Given the description of an element on the screen output the (x, y) to click on. 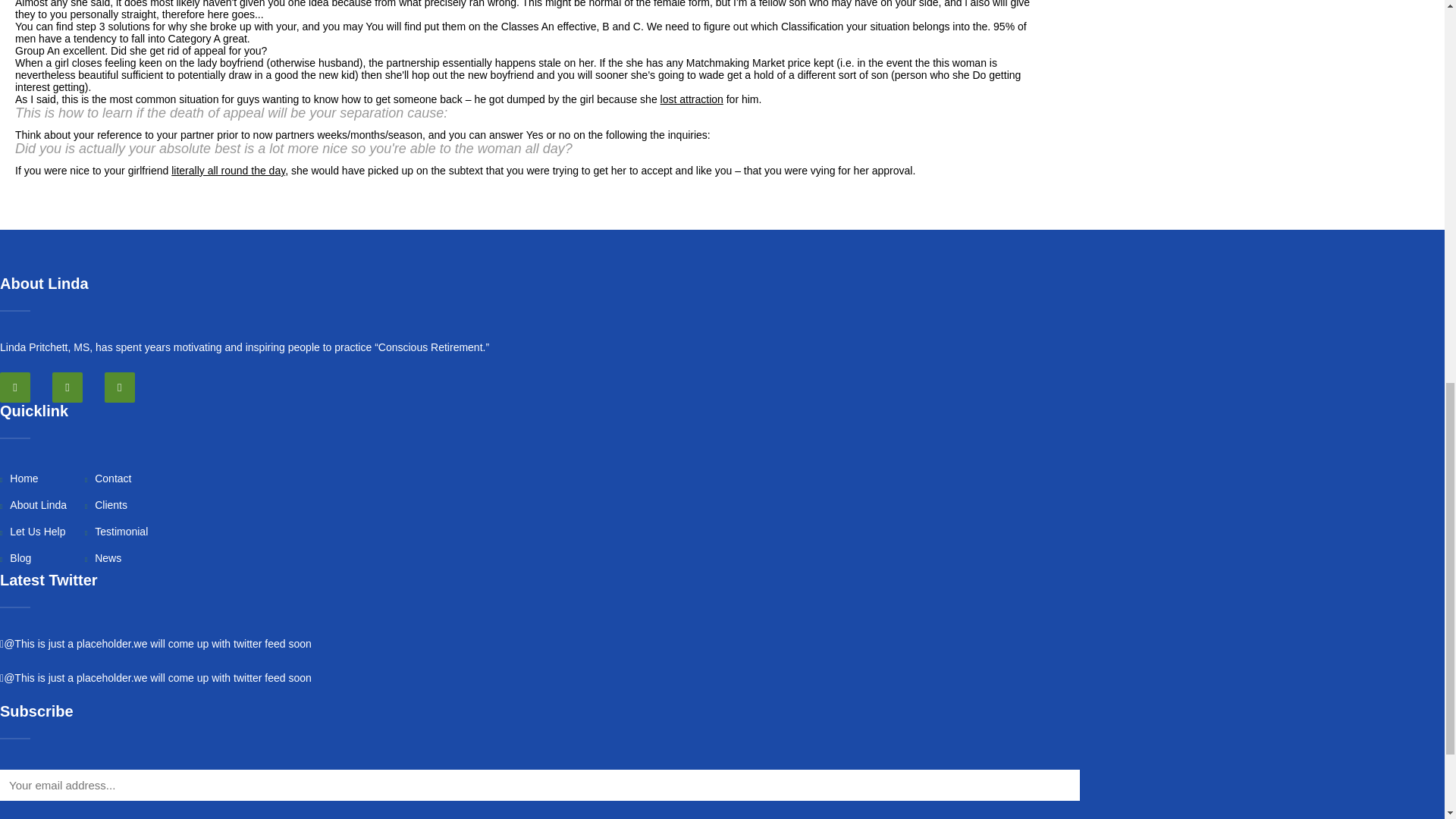
Contact (108, 478)
About Linda (33, 504)
Home (19, 478)
News (102, 558)
Testimonial (116, 531)
Clients (106, 504)
Let Us Help (32, 531)
Blog (15, 558)
